Given the description of an element on the screen output the (x, y) to click on. 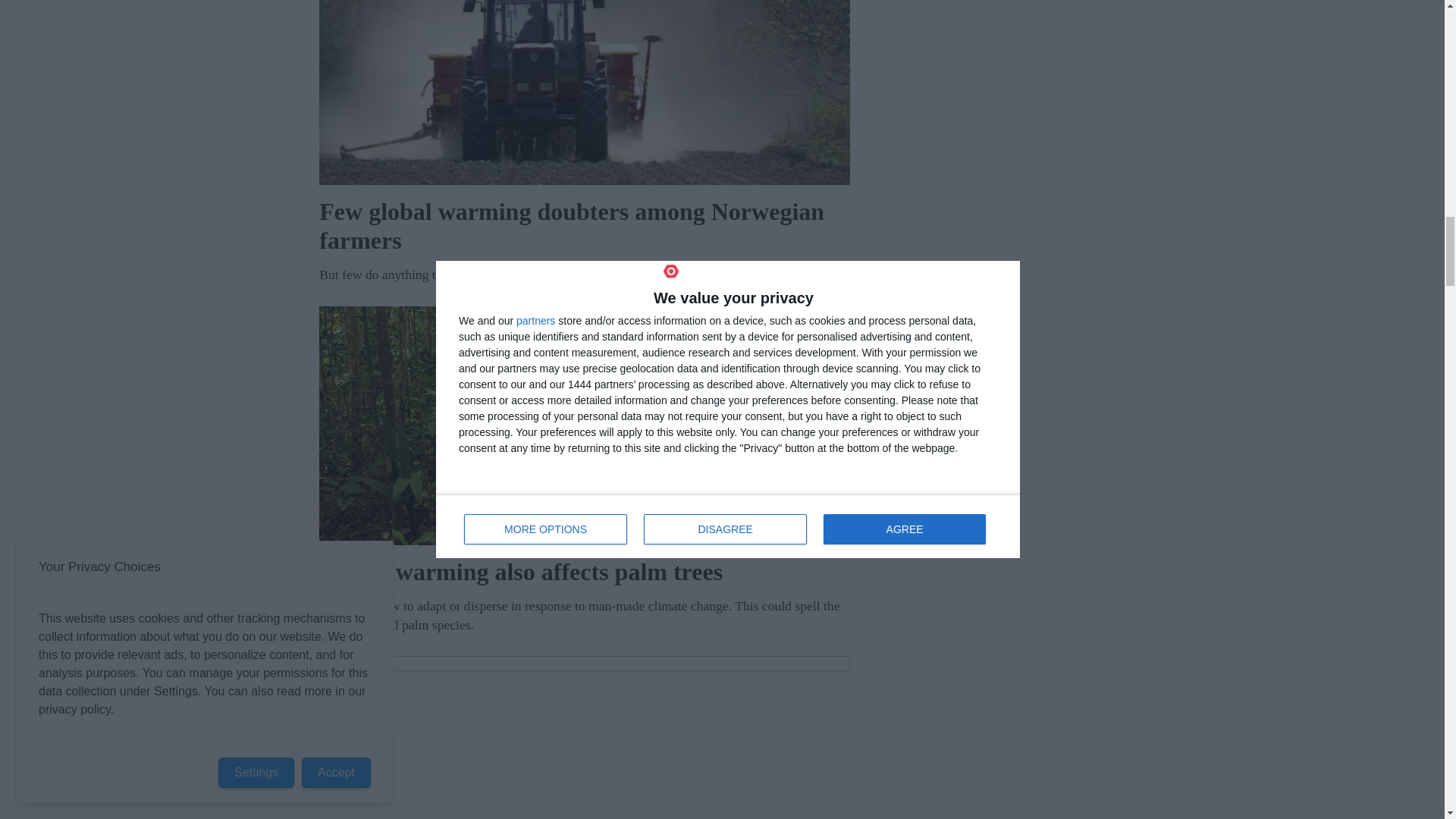
Few global warming doubters among Norwegian farmers (584, 92)
Global warming also affects palm trees (584, 425)
Global warming favours light-coloured insects (584, 737)
